Given the description of an element on the screen output the (x, y) to click on. 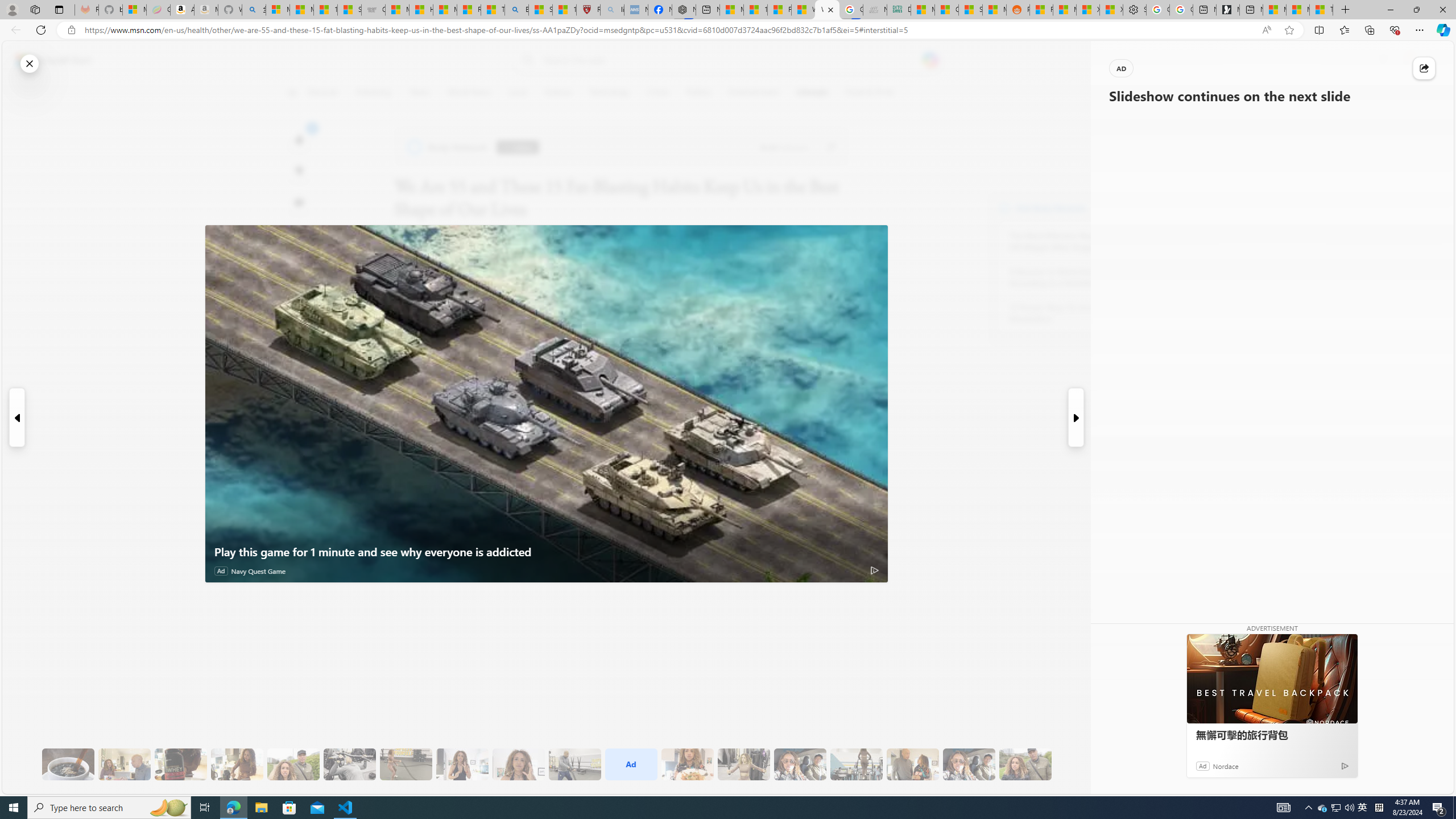
Next Slide (1076, 417)
8 Be Mindful of Coffee (68, 764)
10 Then, They Do HIIT Cardio (406, 764)
